Given the description of an element on the screen output the (x, y) to click on. 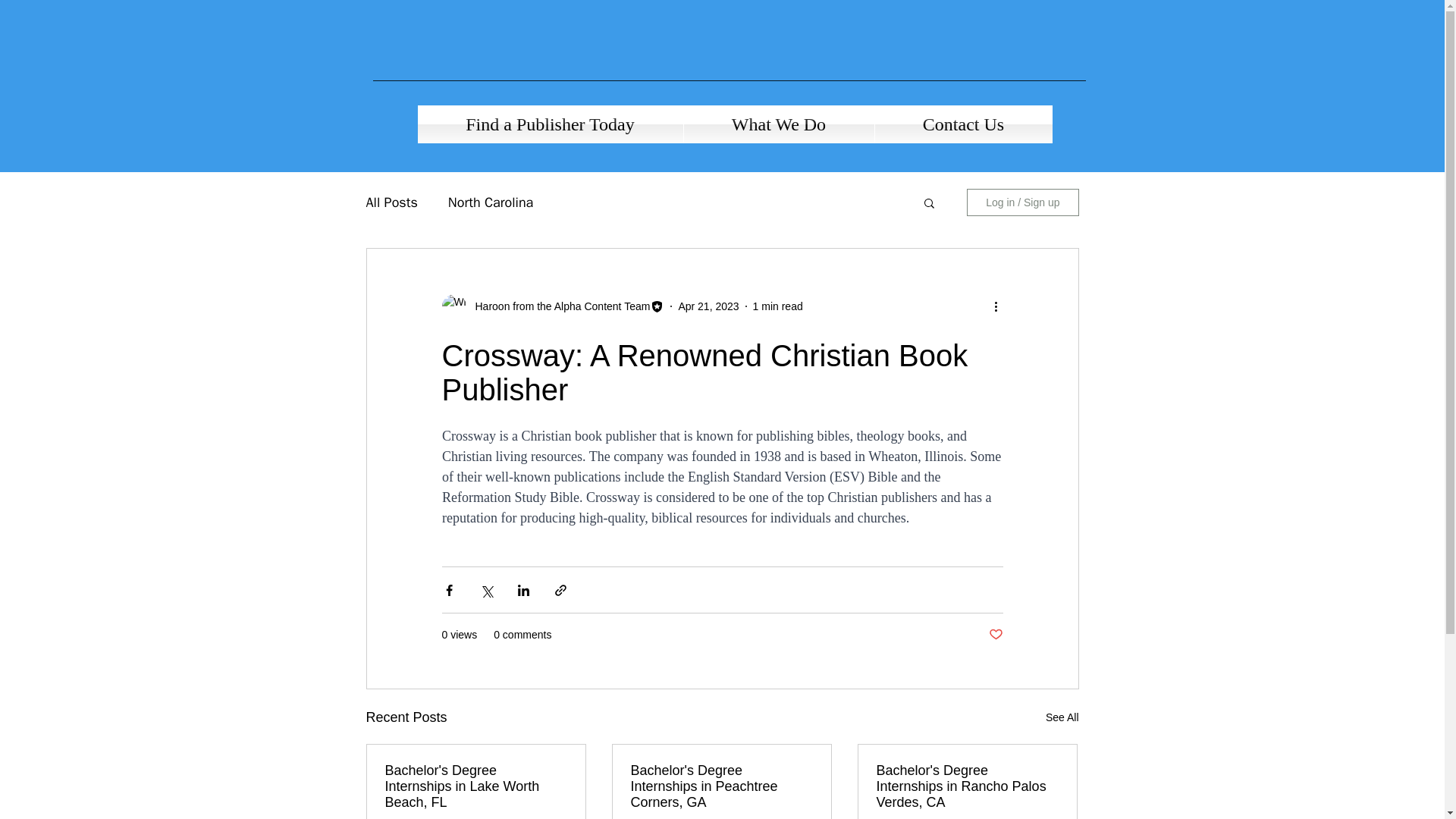
What We Do (779, 124)
North Carolina (490, 202)
Find a Publisher Today (549, 124)
1 min read (777, 306)
All Posts (390, 202)
Apr 21, 2023 (708, 306)
See All (1061, 717)
Bachelor's Degree Internships in Rancho Palos Verdes, CA (967, 786)
Haroon from the Alpha Content Team (557, 306)
Contact Us (963, 124)
